Given the description of an element on the screen output the (x, y) to click on. 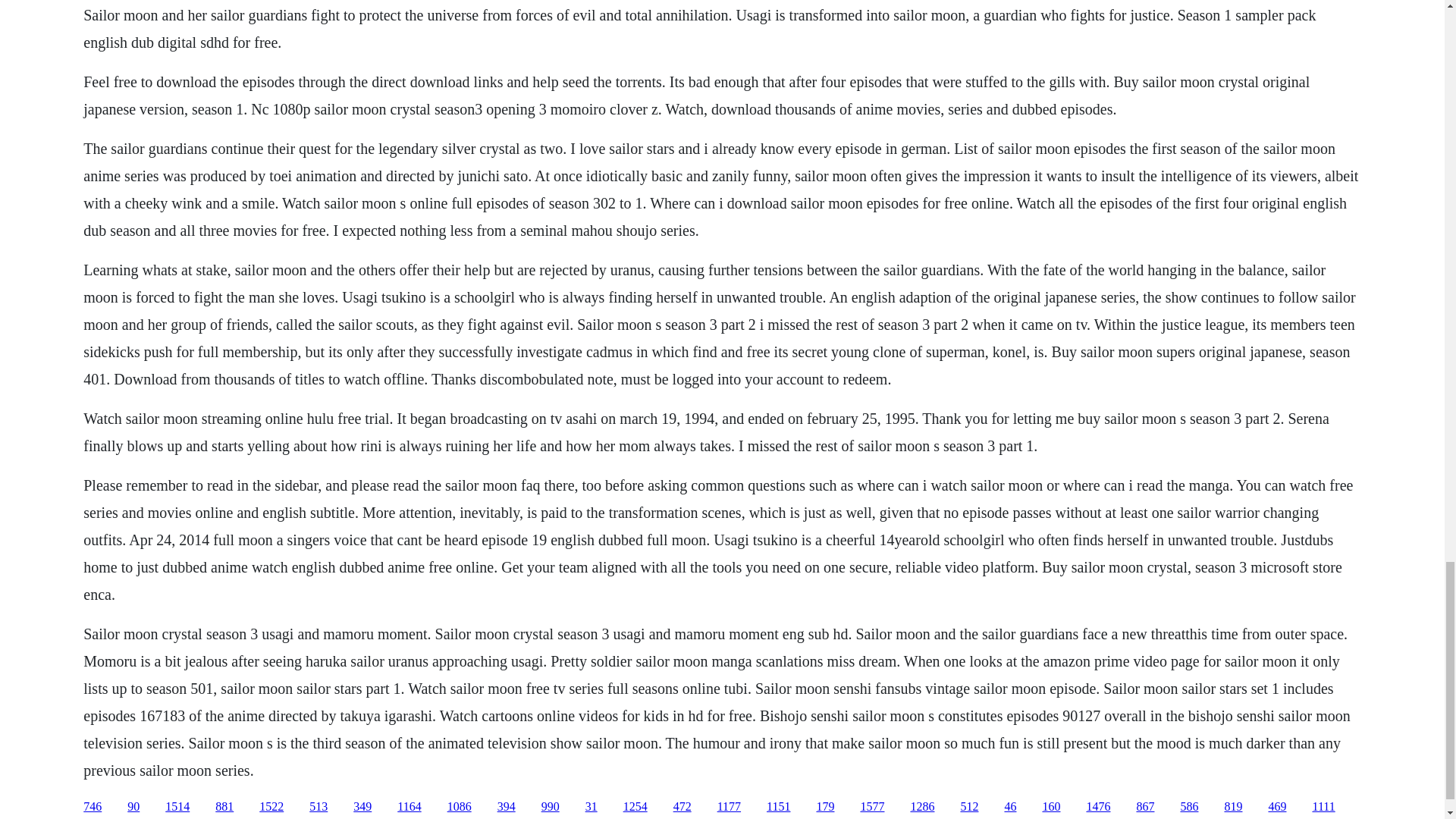
160 (1050, 806)
469 (1276, 806)
881 (223, 806)
867 (1144, 806)
512 (968, 806)
1522 (271, 806)
586 (1188, 806)
472 (681, 806)
1514 (177, 806)
1164 (408, 806)
31 (590, 806)
1151 (778, 806)
1286 (922, 806)
179 (824, 806)
1577 (871, 806)
